Given the description of an element on the screen output the (x, y) to click on. 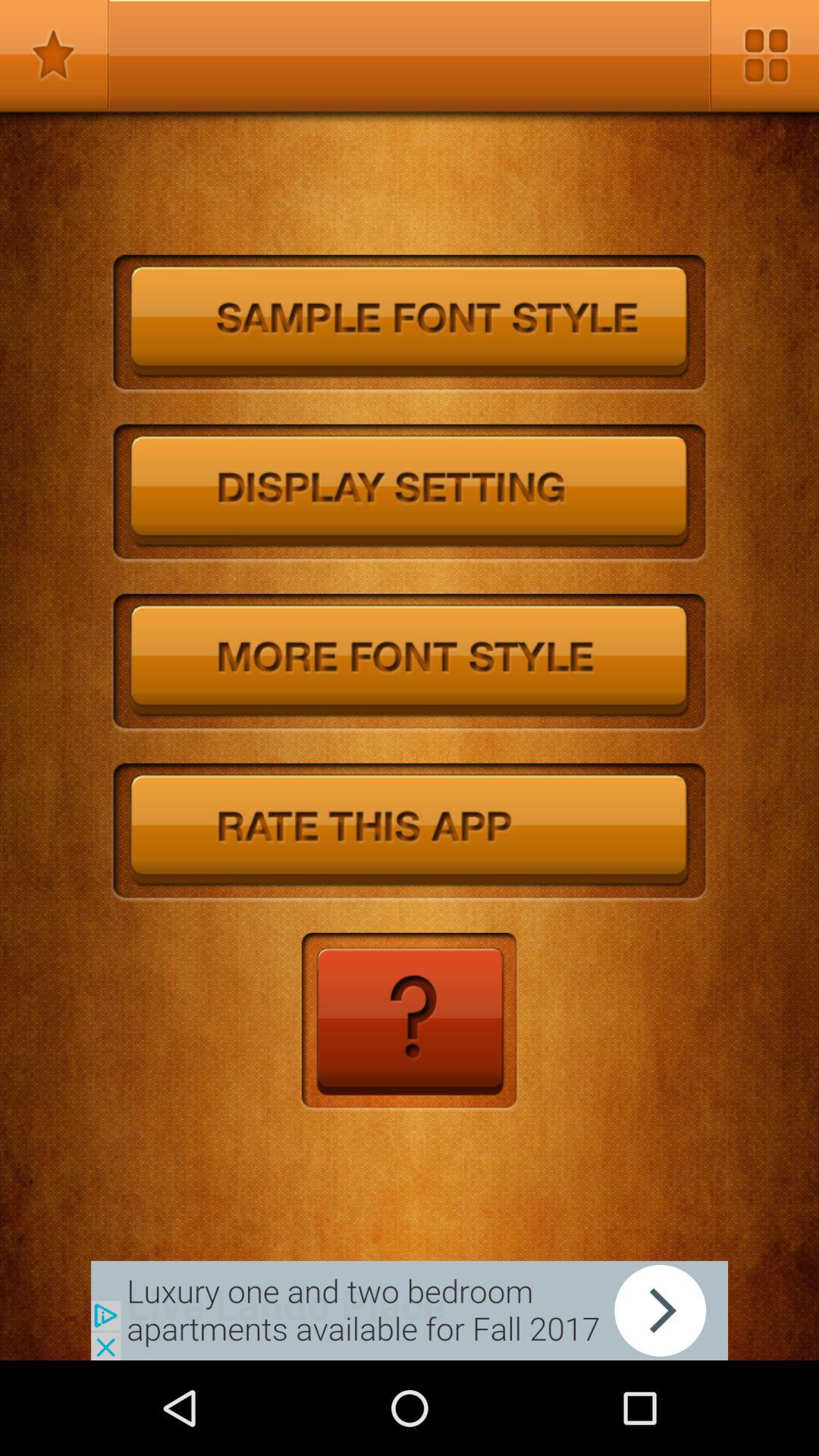
go to next option (409, 1310)
